Given the description of an element on the screen output the (x, y) to click on. 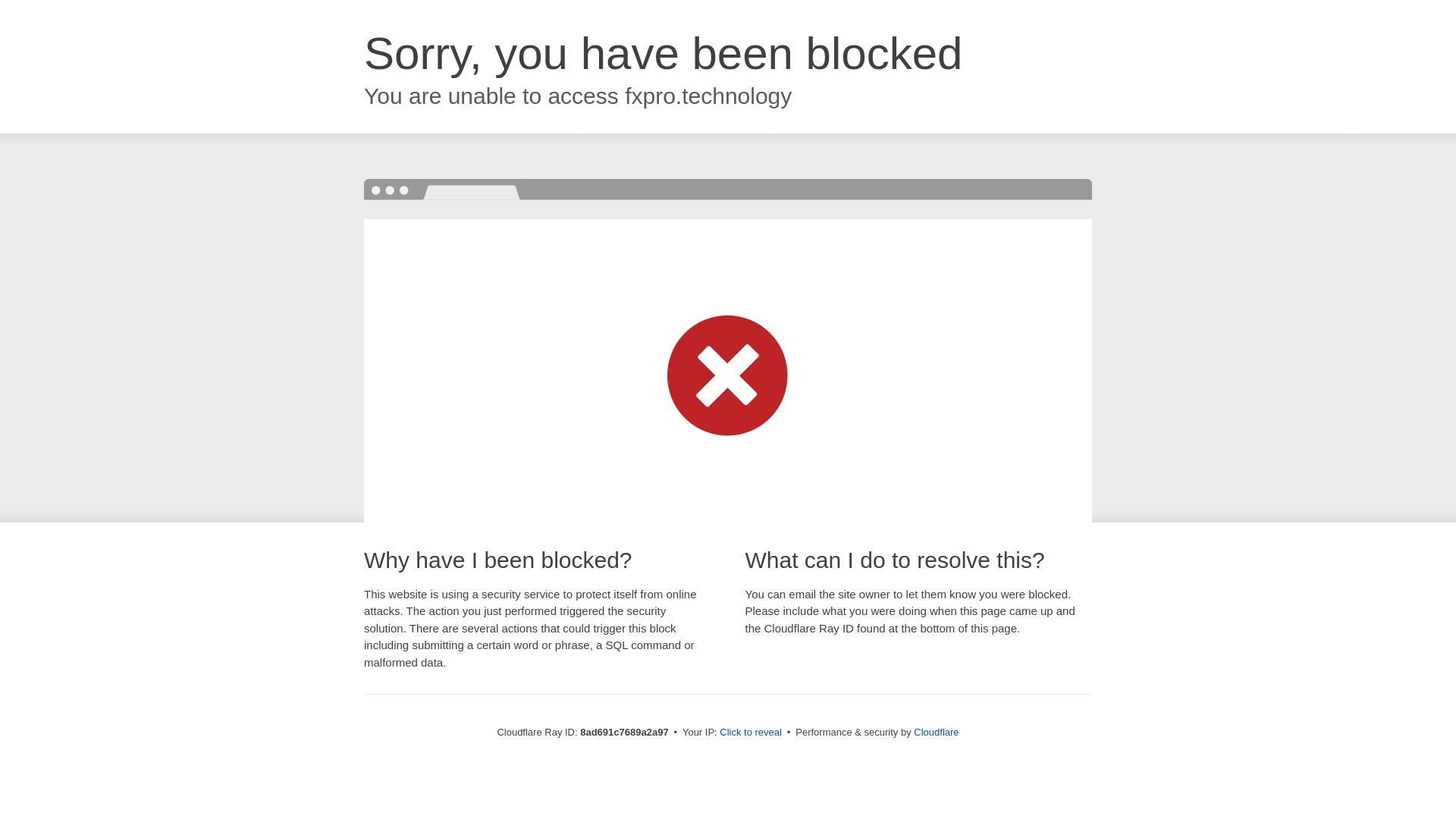
Click to reveal (750, 732)
Cloudflare (936, 731)
